Given the description of an element on the screen output the (x, y) to click on. 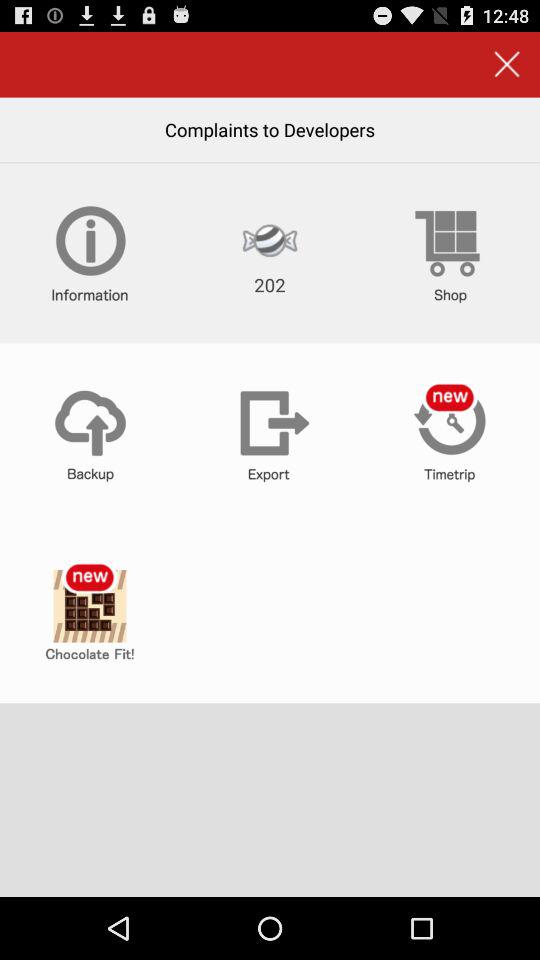
shopping cart (450, 253)
